Given the description of an element on the screen output the (x, y) to click on. 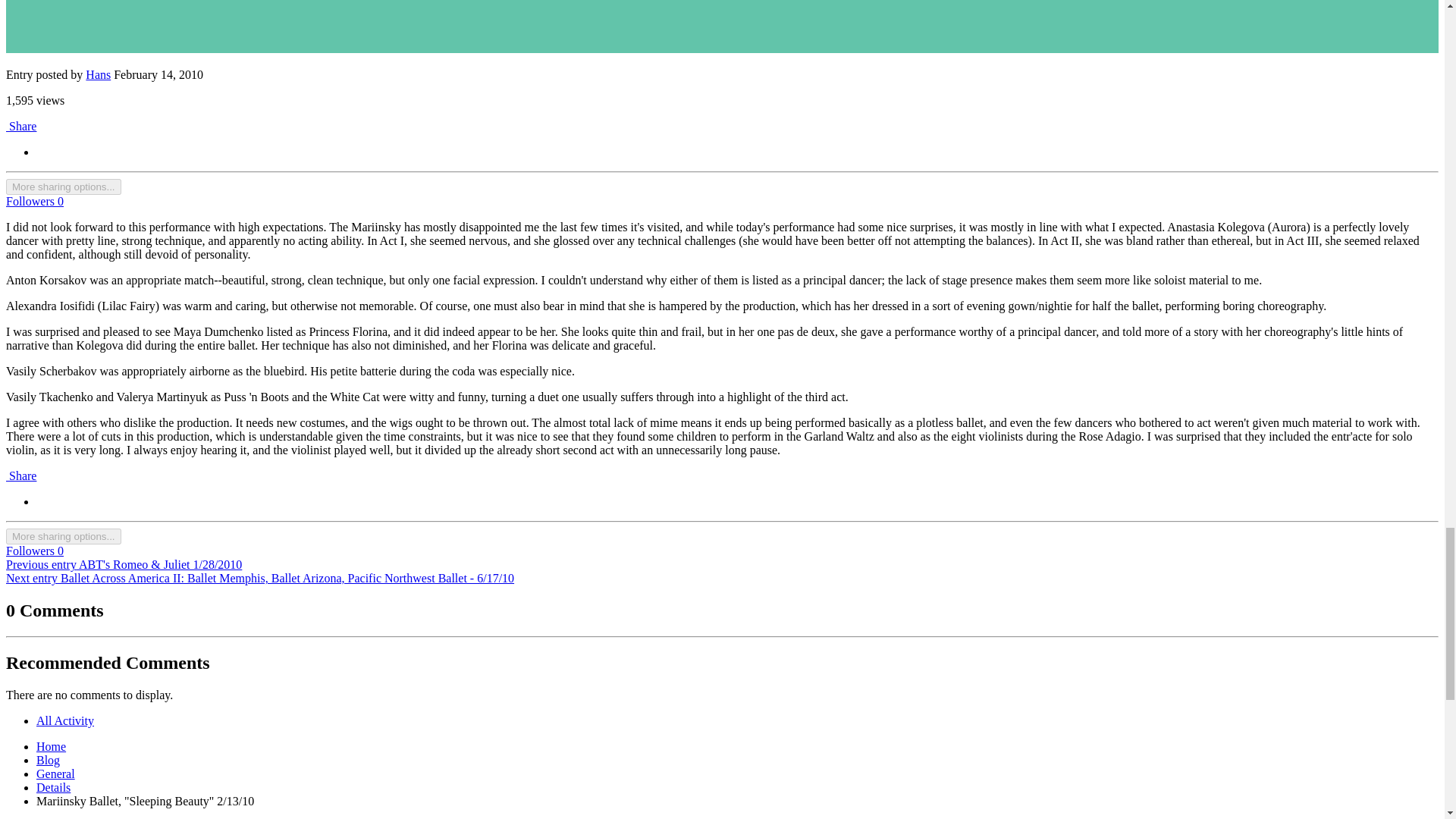
Sign in to follow this (34, 550)
Previous entry (123, 563)
Sign in to follow this (34, 201)
Go to Hans's profile (97, 74)
Next entry (259, 577)
Home (50, 746)
